Given the description of an element on the screen output the (x, y) to click on. 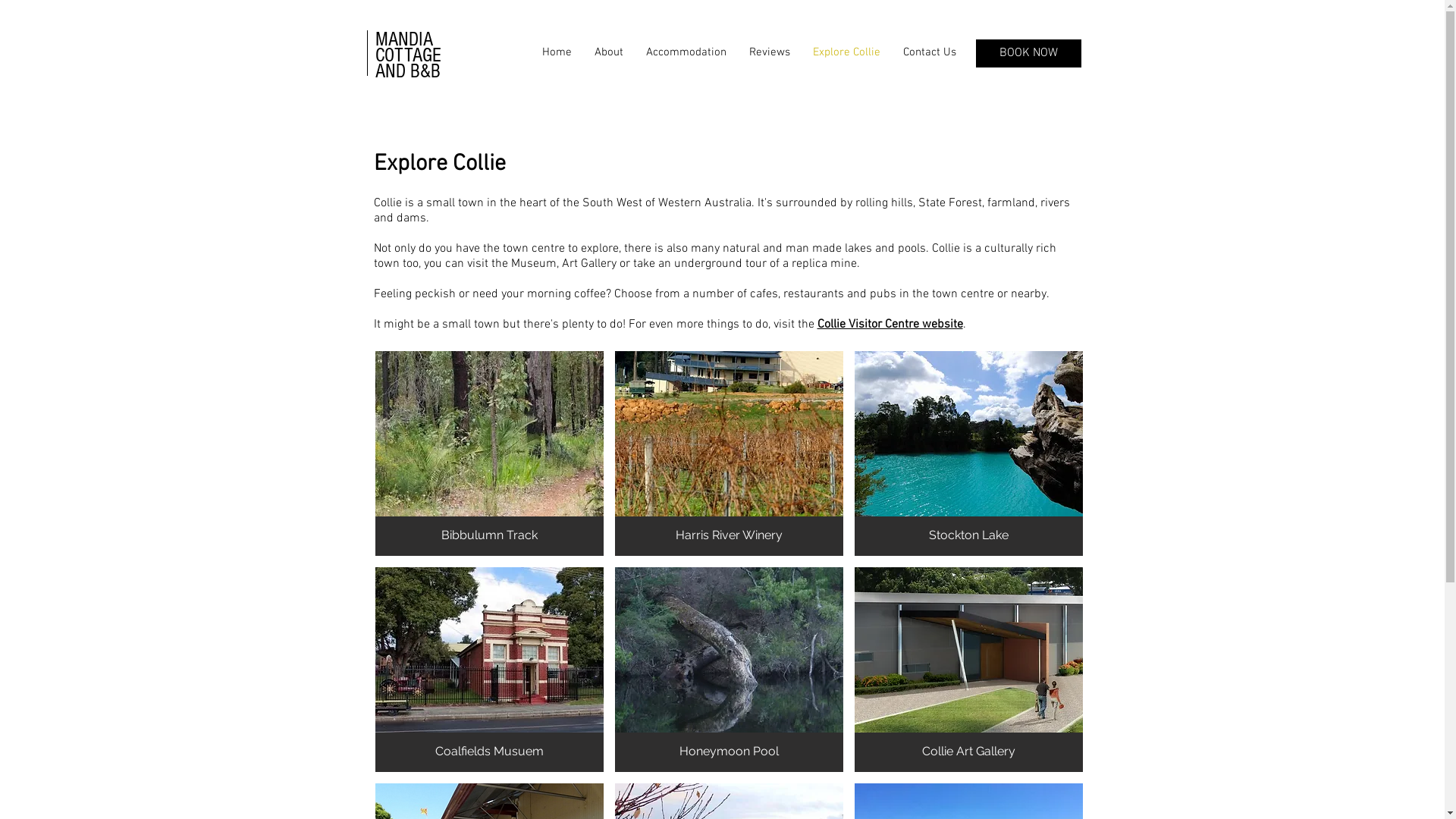
BOOK NOW Element type: text (1027, 53)
Contact Us Element type: text (929, 52)
Reviews Element type: text (768, 52)
About Element type: text (607, 52)
Collie Visitor Centre website Element type: text (890, 324)
Accommodation Element type: text (685, 52)
Explore Collie Element type: text (845, 52)
Home Element type: text (556, 52)
